Given the description of an element on the screen output the (x, y) to click on. 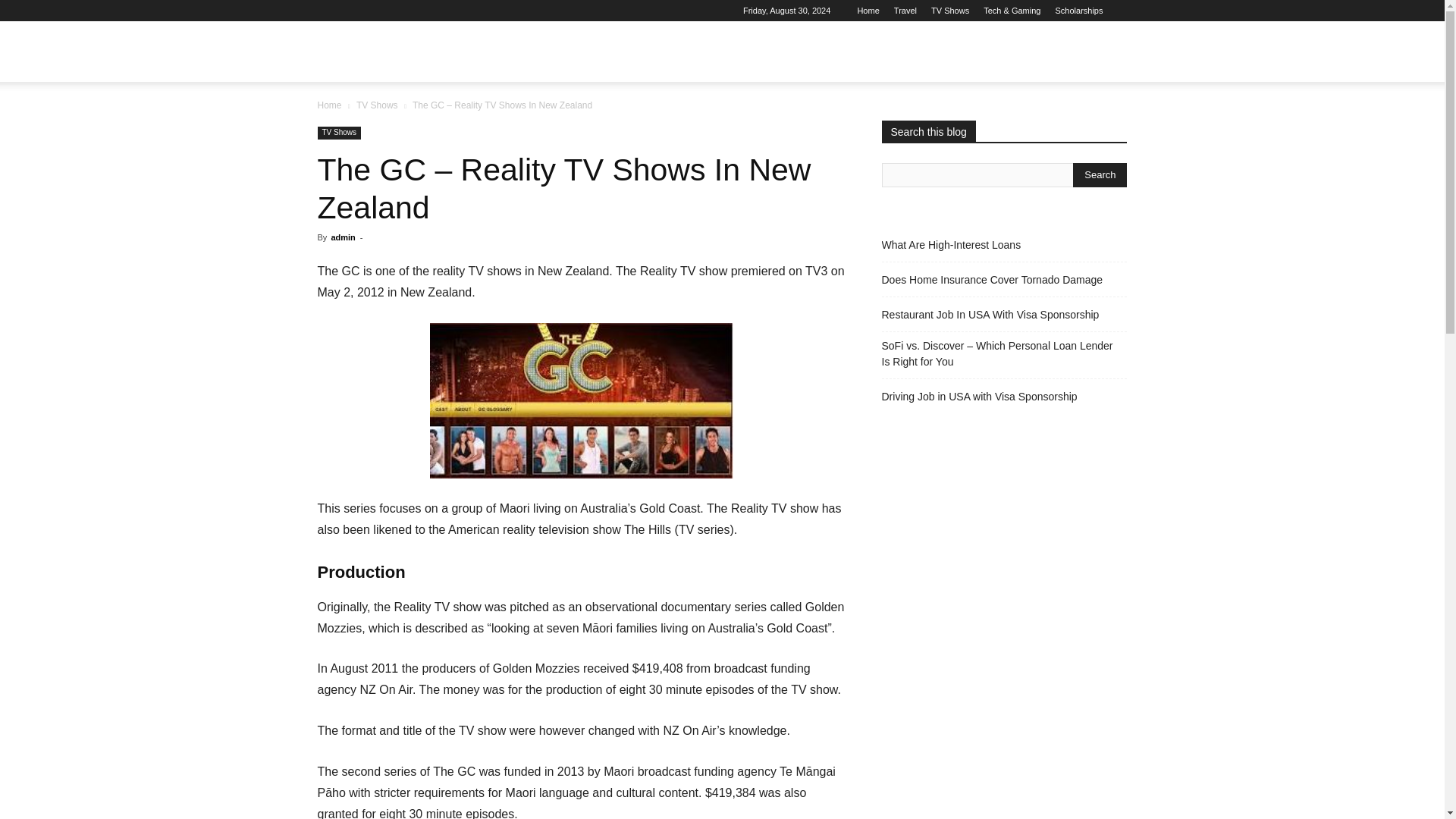
Scholarships (1079, 10)
Home (328, 104)
Search (1085, 124)
TV Shows (376, 104)
Search (1099, 174)
View all posts in TV Shows (376, 104)
Home (868, 10)
TV Shows (339, 132)
SCHOLARSHIPS (814, 51)
TV SHOWS (615, 51)
